Given the description of an element on the screen output the (x, y) to click on. 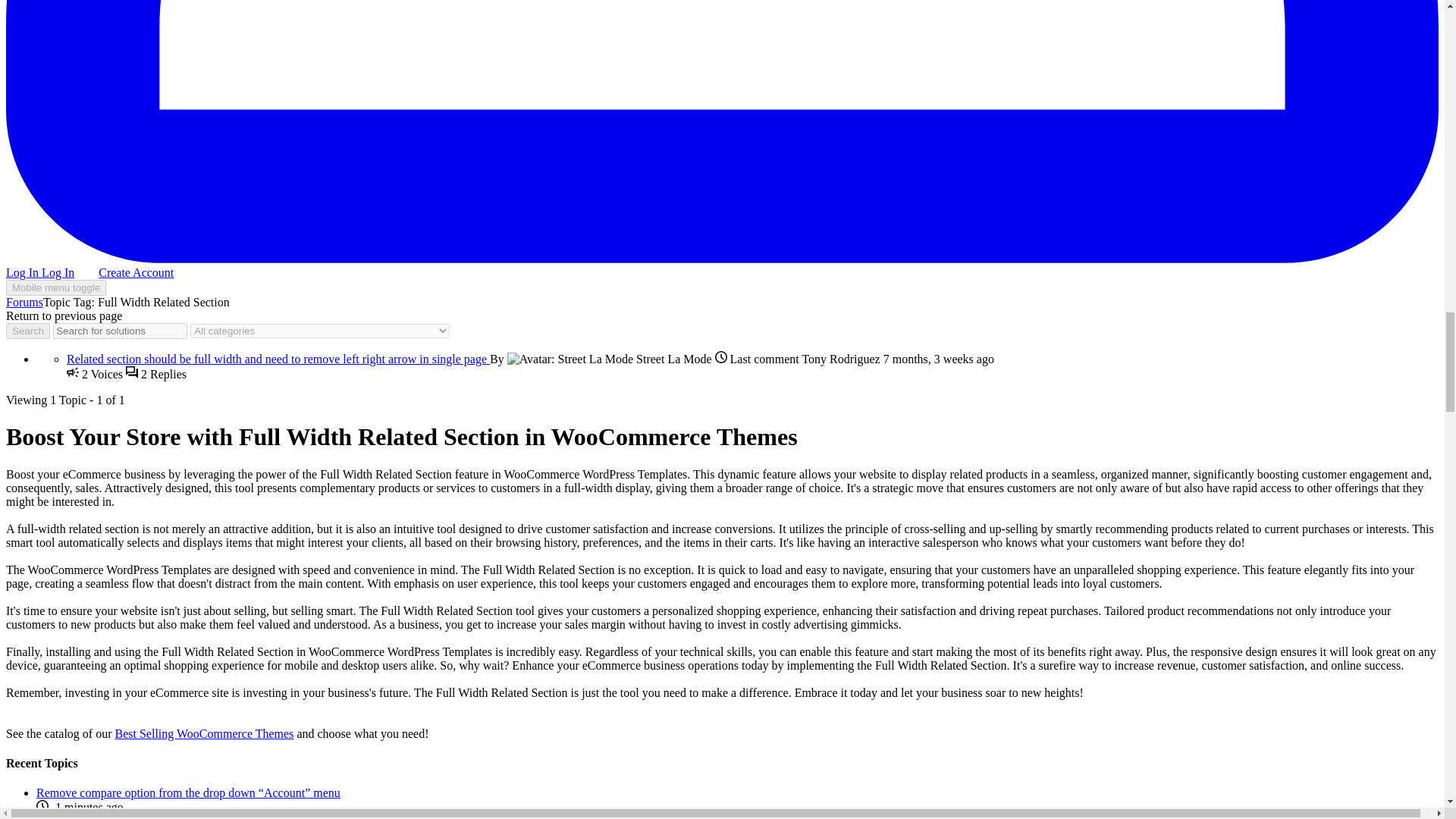
Search (27, 330)
